Given the description of an element on the screen output the (x, y) to click on. 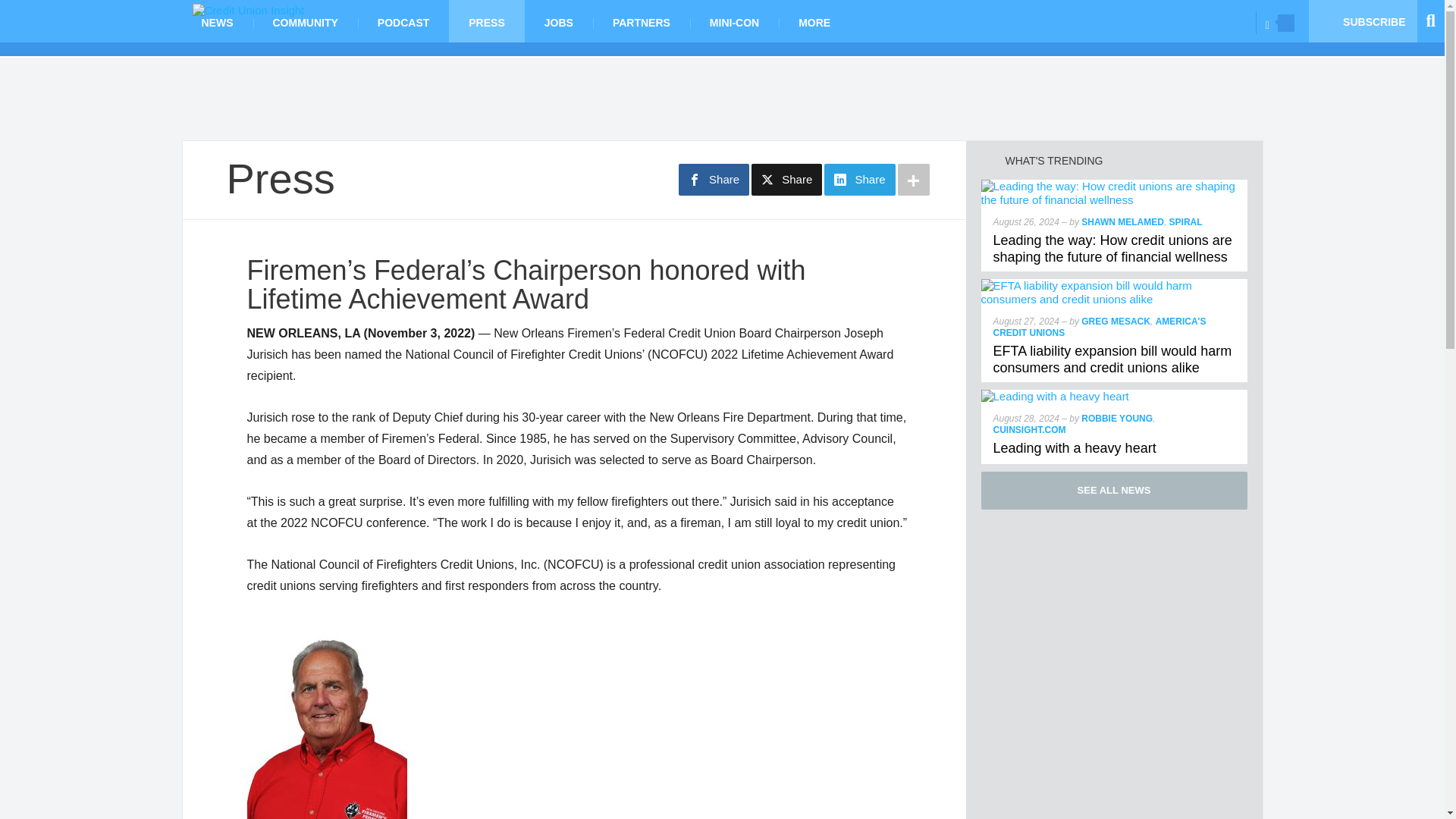
NEWS (217, 21)
JOBS (558, 21)
SUBSCRIBE (1362, 21)
Share (786, 179)
MINI-CON (734, 21)
MORE (814, 21)
Press (279, 178)
PARTNERS (641, 21)
